Given the description of an element on the screen output the (x, y) to click on. 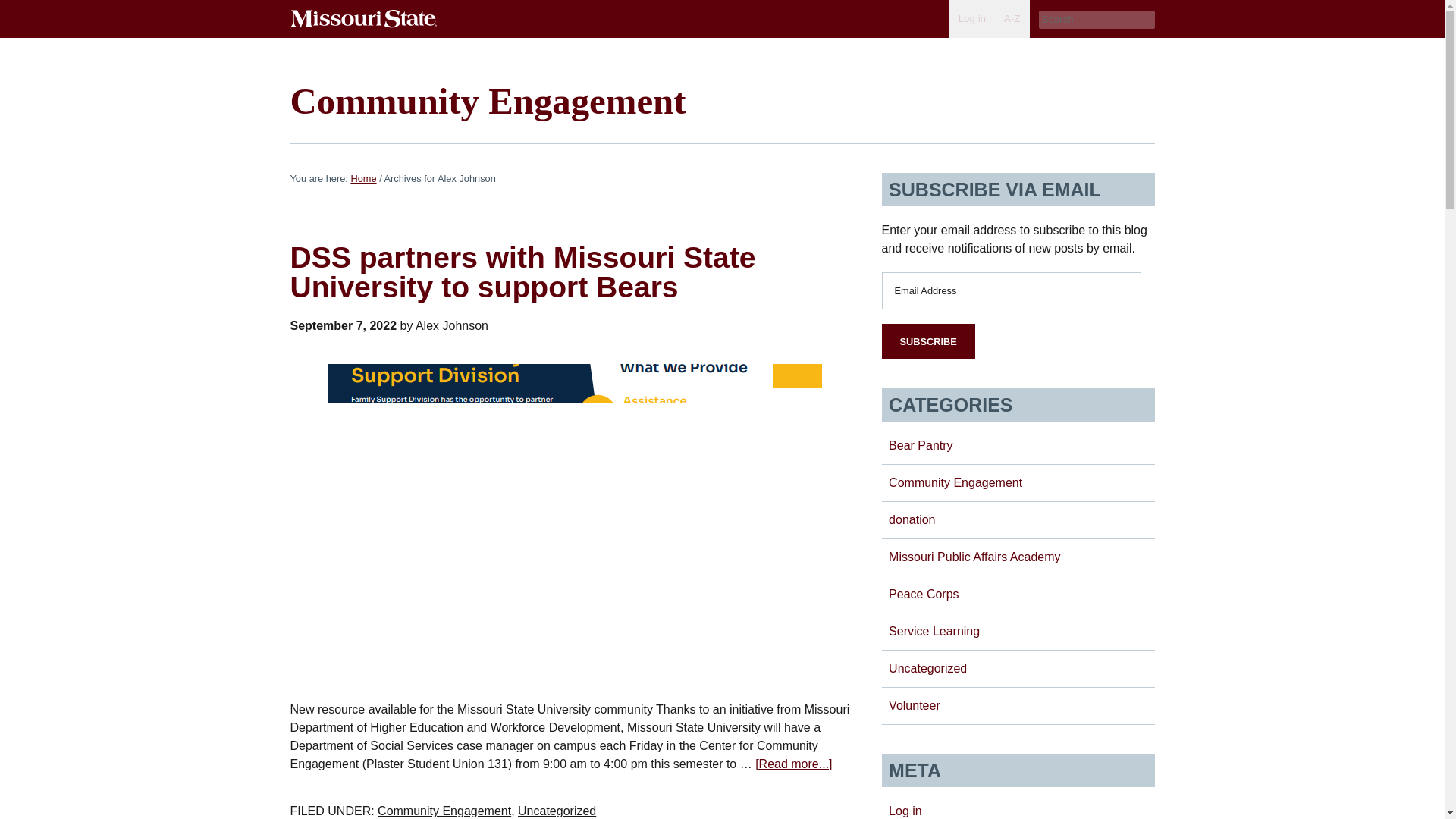
Home (362, 178)
Log in (971, 18)
Alex Johnson (450, 325)
Community Engagement (487, 101)
Peace Corps information and resources (923, 594)
Citizen Bears making a difference. (955, 481)
DSS partners with Missouri State University to support Bears (522, 271)
A-Z (1011, 18)
